Given the description of an element on the screen output the (x, y) to click on. 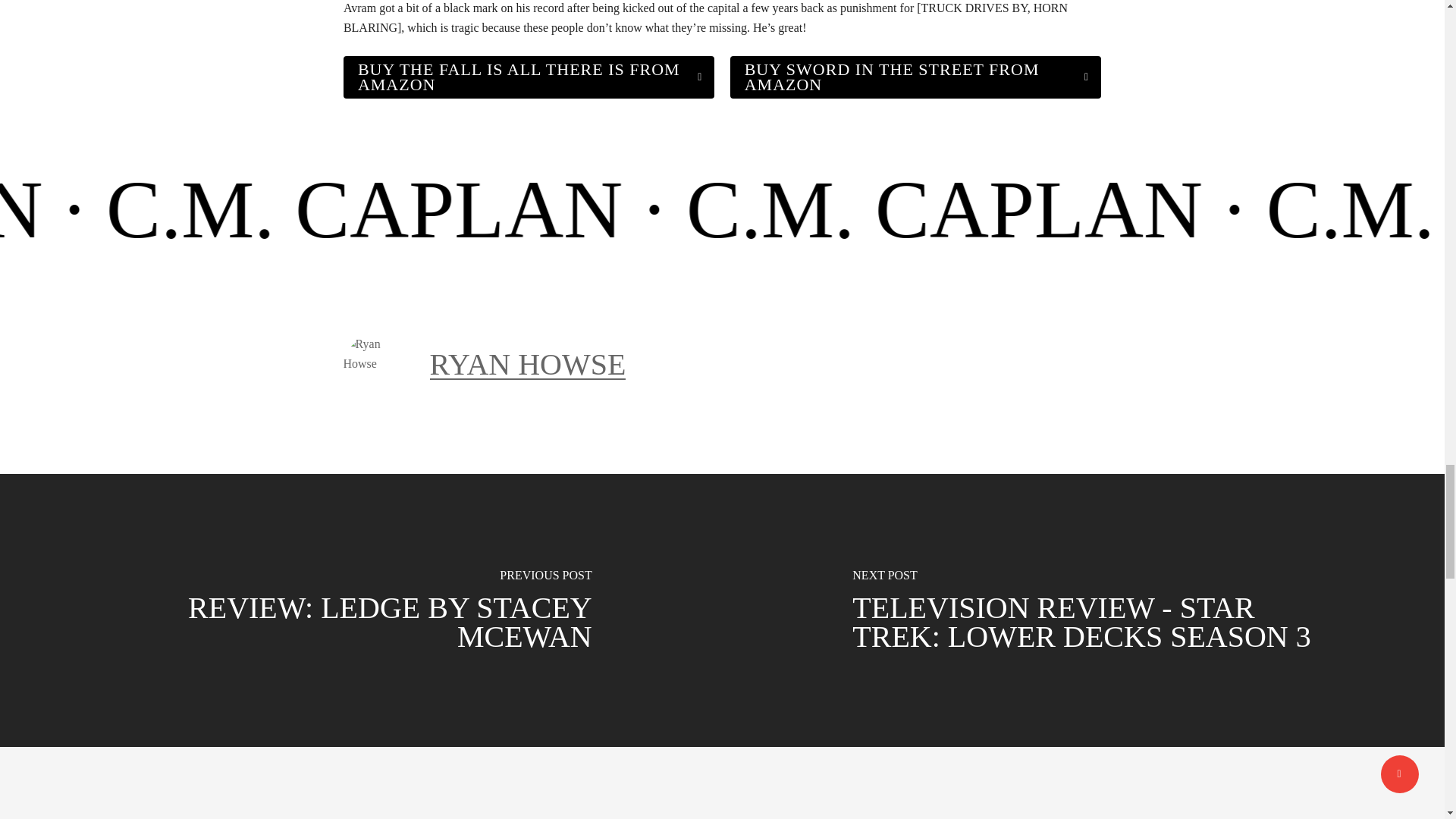
RYAN HOWSE (527, 364)
BUY SWORD IN THE STREET FROM AMAZON (915, 77)
BUY THE FALL IS ALL THERE IS FROM AMAZON (528, 77)
